Given the description of an element on the screen output the (x, y) to click on. 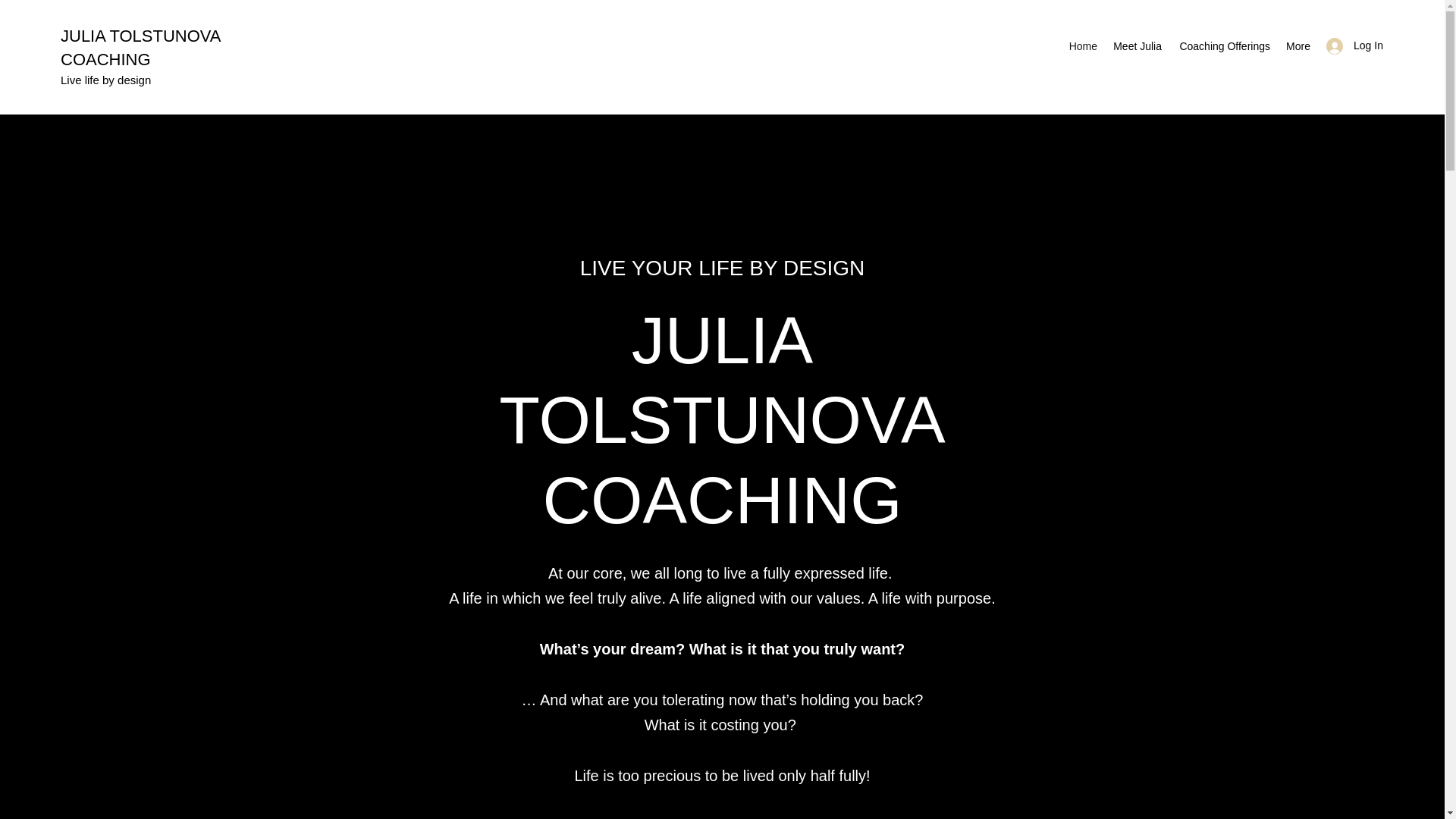
Meet Julia (1137, 46)
Coaching Offerings (1223, 46)
Log In (1350, 45)
Home (1083, 46)
